Given the description of an element on the screen output the (x, y) to click on. 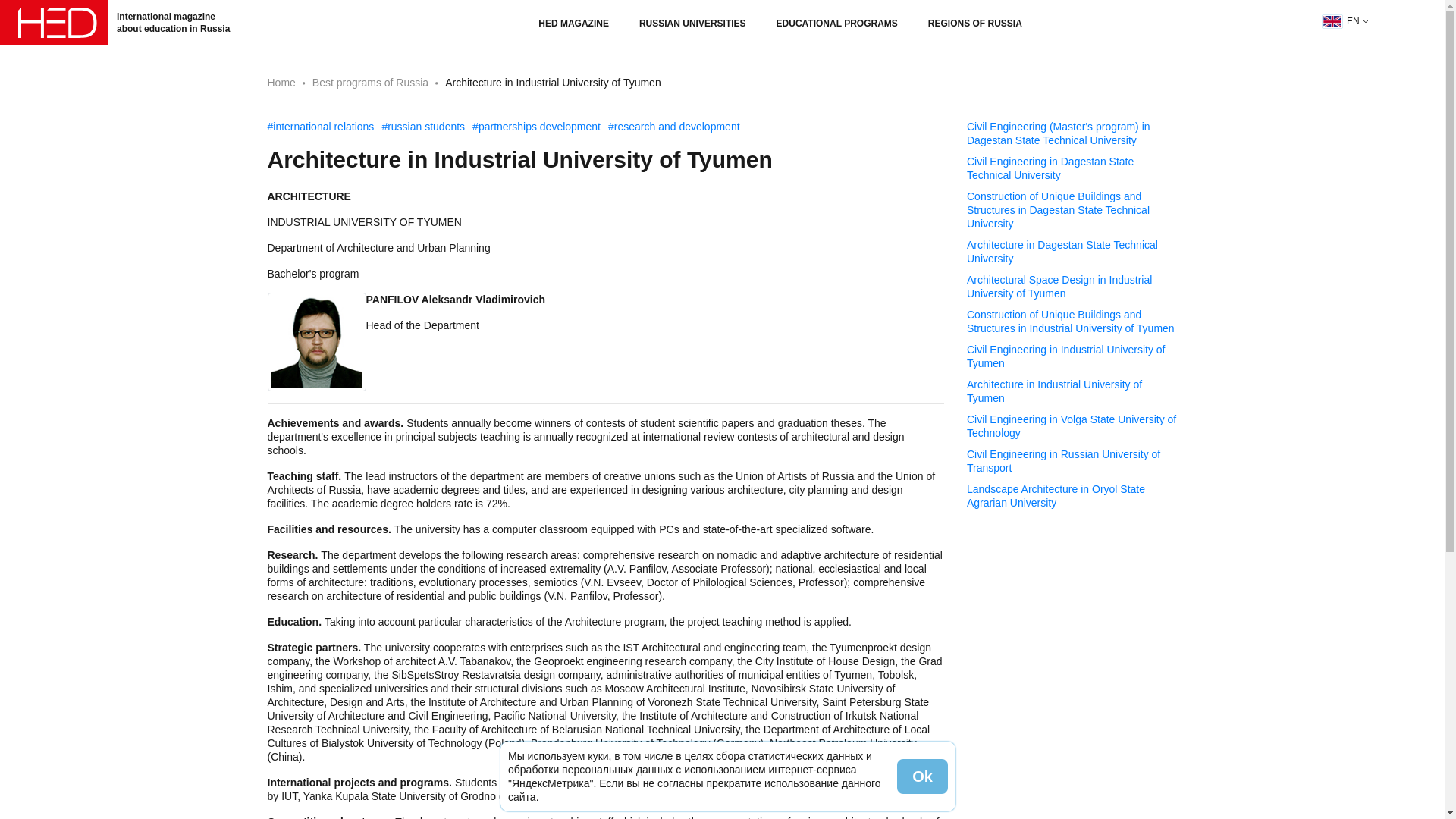
Home (280, 82)
Architecture in Industrial University of Tyumen (1071, 390)
EDUCATIONAL PROGRAMS (837, 23)
Civil Engineering in Russian University of Transport (1071, 461)
Best programs of Russia (370, 82)
International magazine about education in Russia (121, 22)
Architecture in Dagestan State Technical University (1071, 251)
Landscape Architecture in Oryol State Agrarian University (1071, 495)
REGIONS OF RUSSIA (975, 23)
Civil Engineering in Dagestan State Technical University (1071, 167)
Civil Engineering in Volga State University of Technology (1071, 425)
RUSSIAN UNIVERSITIES (692, 23)
Civil Engineering in Industrial University of Tyumen (1071, 356)
